Given the description of an element on the screen output the (x, y) to click on. 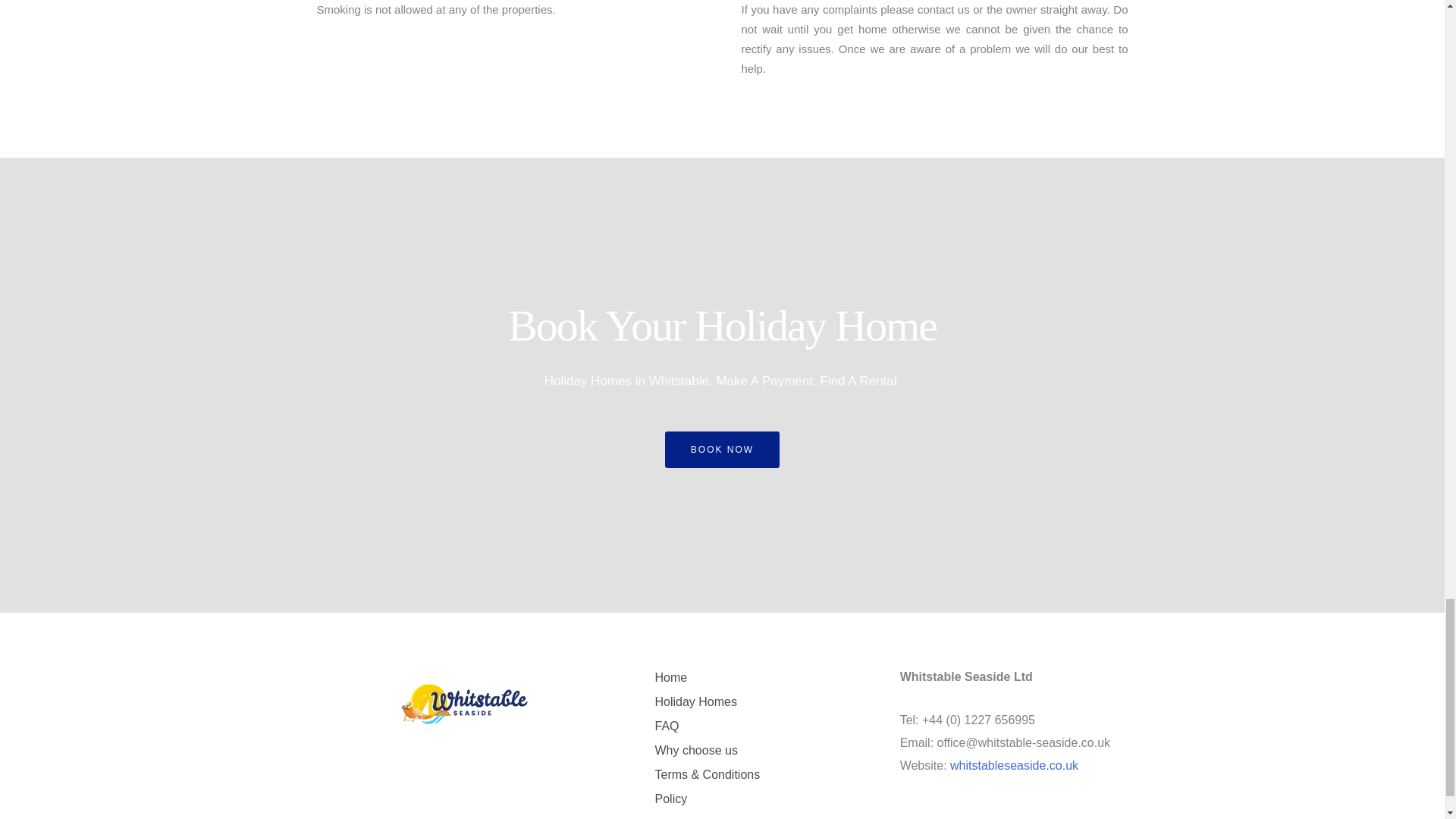
Why choose us (707, 750)
Holiday Homes (707, 702)
Policy (707, 799)
BOOK NOW (721, 449)
whitstableseaside.co.uk (1014, 765)
Home (707, 677)
FAQ (707, 726)
